Given the description of an element on the screen output the (x, y) to click on. 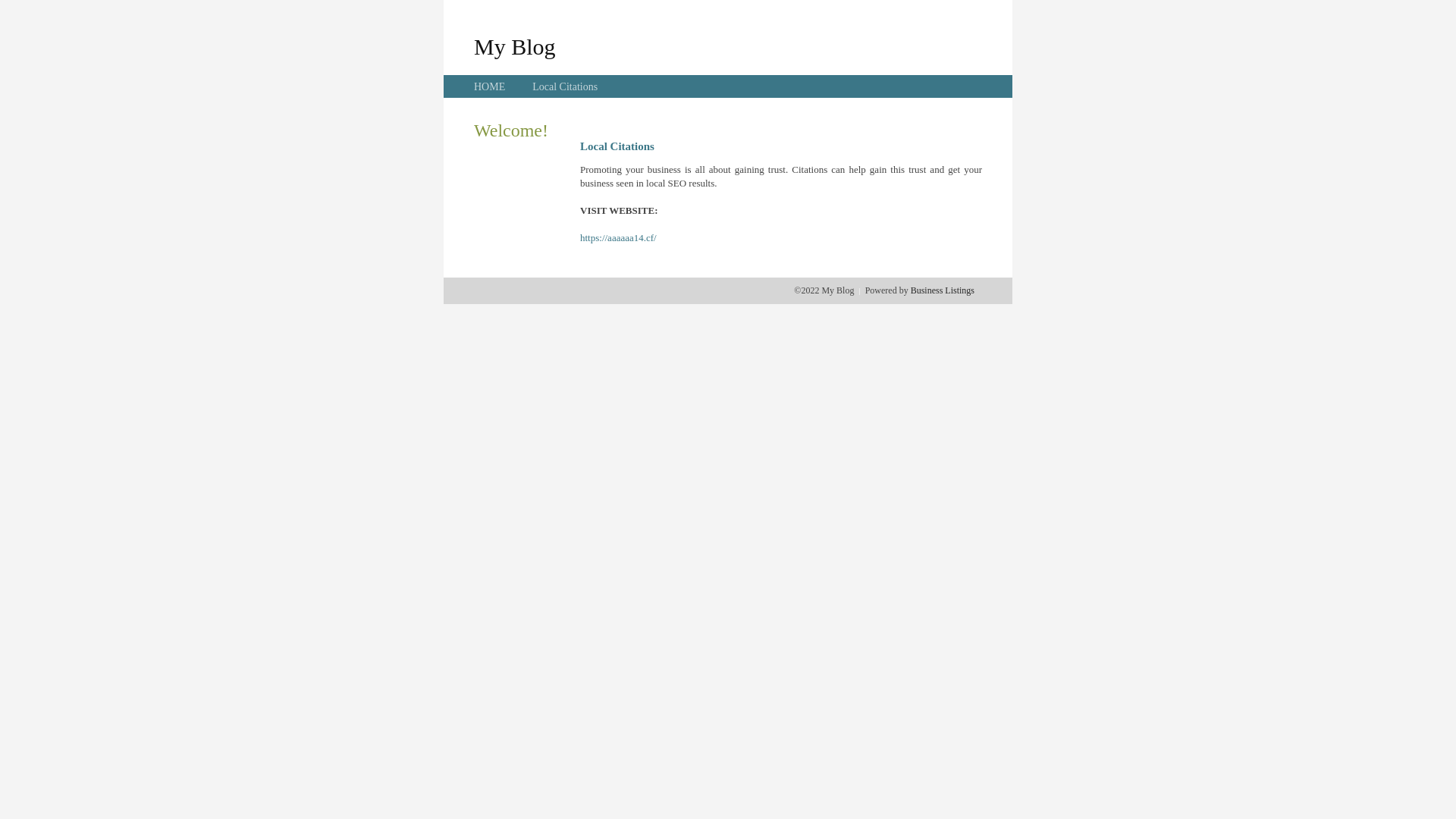
My Blog Element type: text (514, 46)
Business Listings Element type: text (942, 290)
https://aaaaaa14.cf/ Element type: text (618, 237)
Local Citations Element type: text (564, 86)
HOME Element type: text (489, 86)
